Given the description of an element on the screen output the (x, y) to click on. 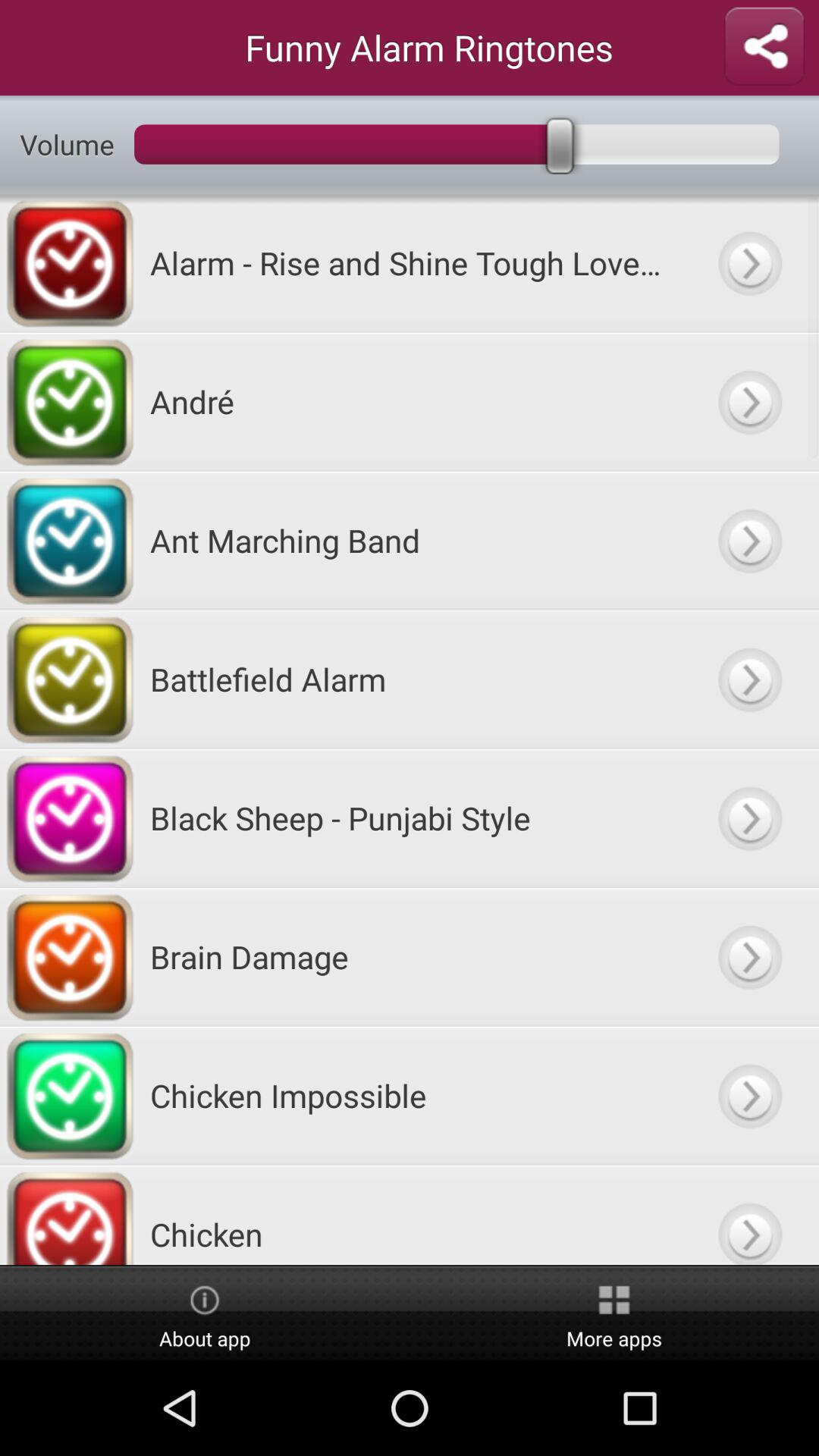
go to back (749, 956)
